Given the description of an element on the screen output the (x, y) to click on. 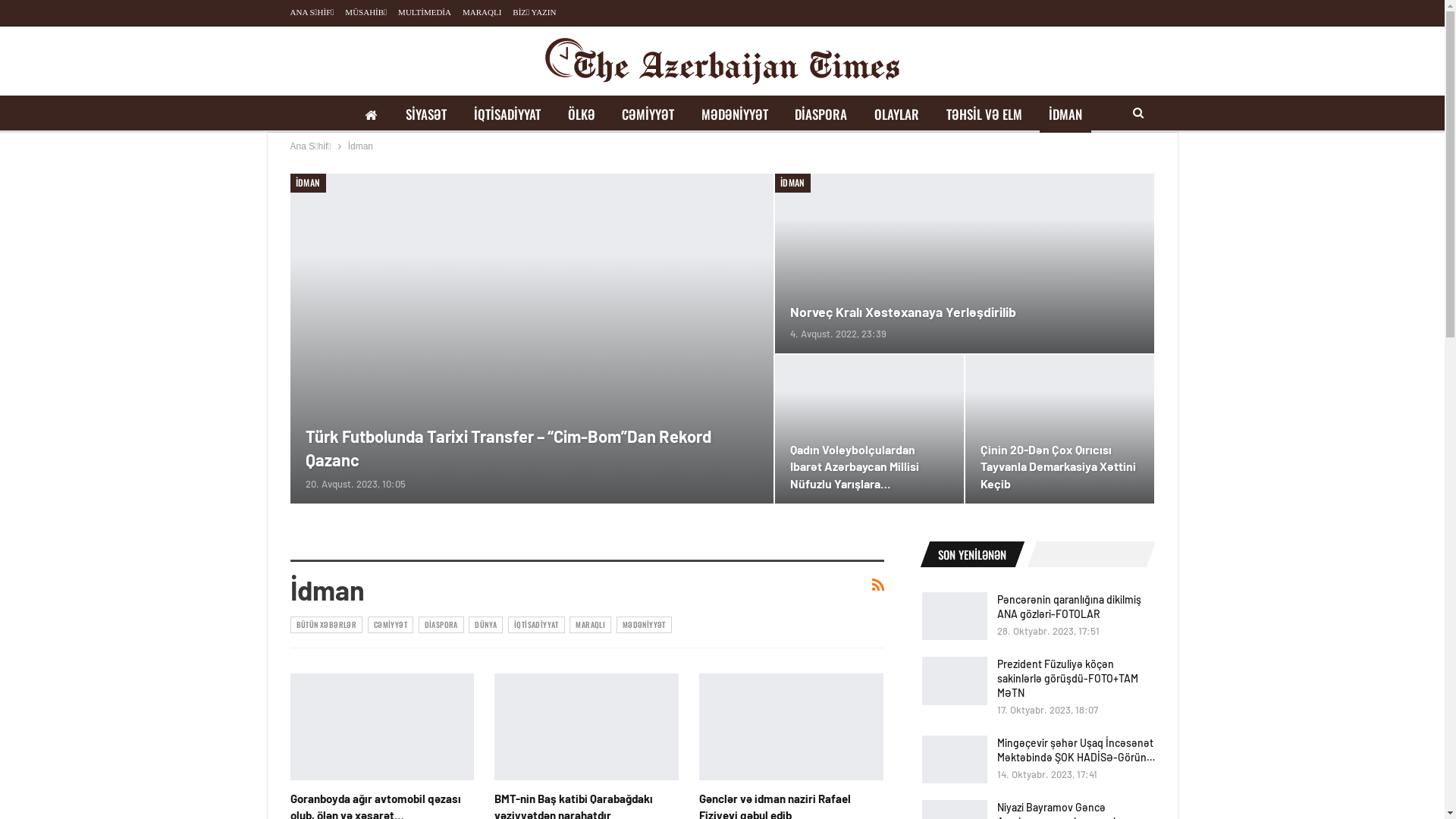
MARAQLI Element type: text (481, 11)
DIASPORA Element type: text (441, 624)
DIASPORA Element type: text (820, 114)
MARAQLI Element type: text (590, 624)
OLAYLAR Element type: text (896, 114)
